Given the description of an element on the screen output the (x, y) to click on. 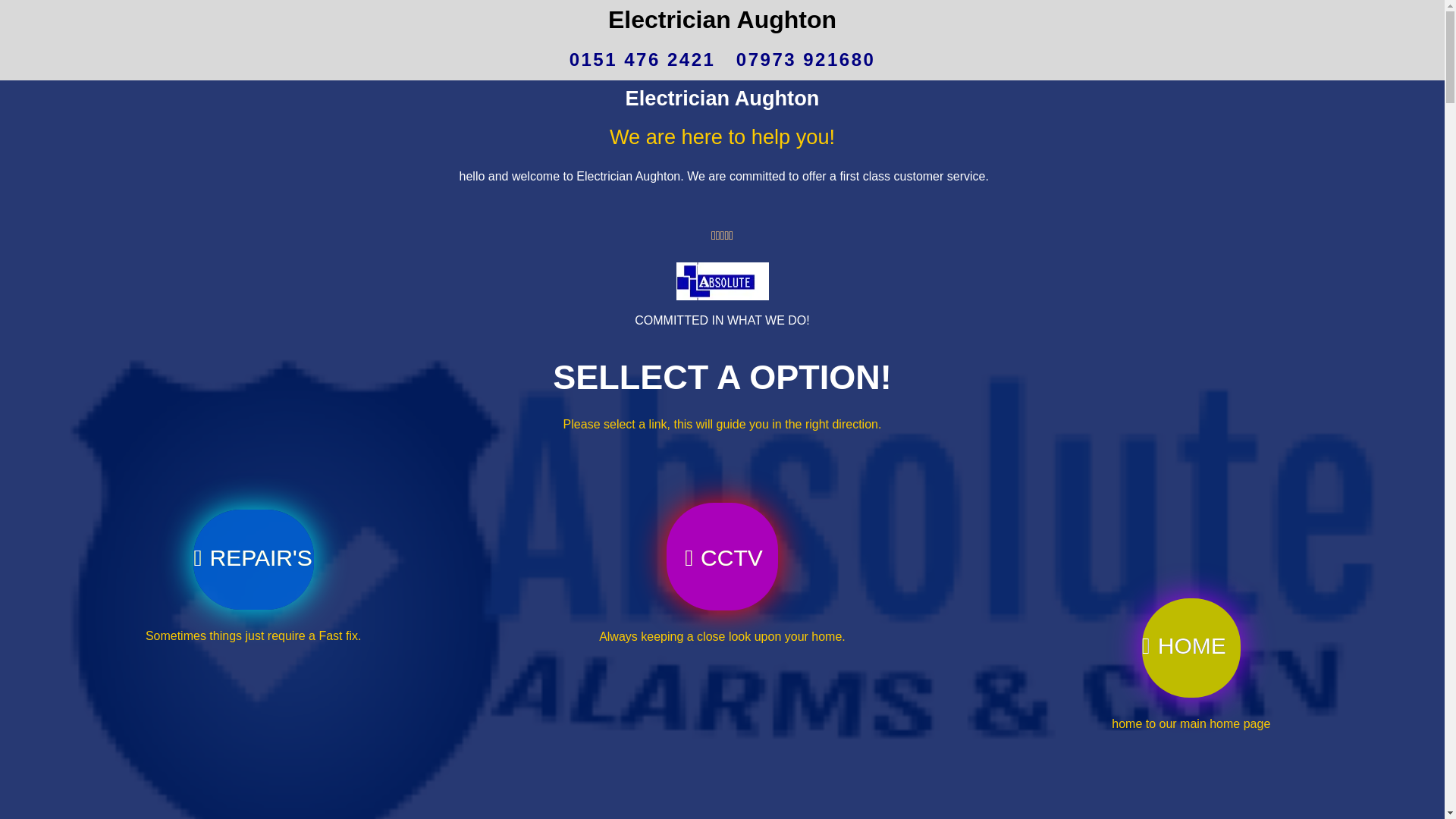
REPAIR'S (253, 483)
HOME (1190, 610)
CCTV (721, 496)
